Given the description of an element on the screen output the (x, y) to click on. 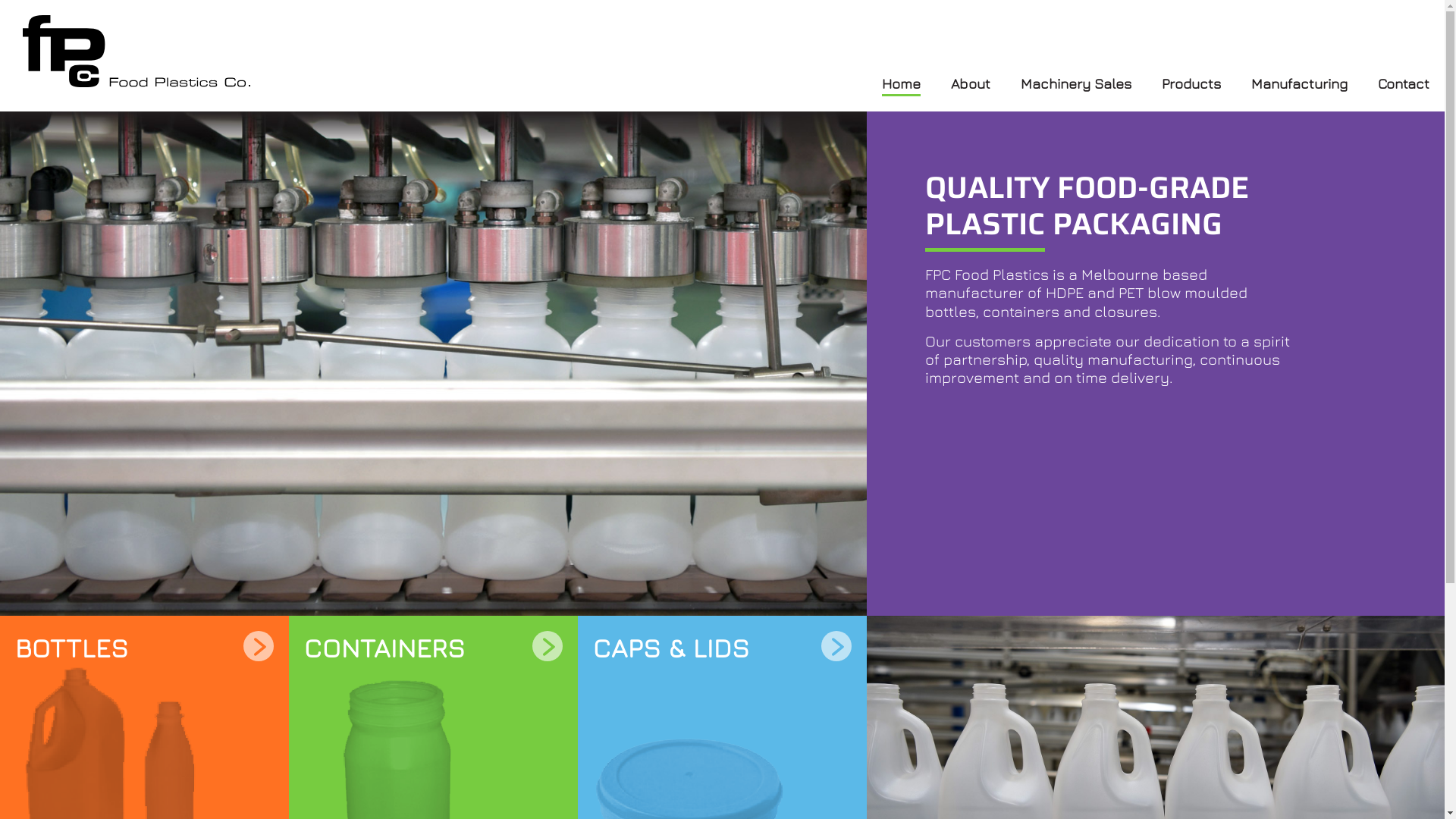
About Element type: text (970, 84)
Contact Element type: text (1403, 84)
Products Element type: text (1190, 84)
Food Plastics Element type: hover (136, 51)
Manufacturing Element type: text (1299, 84)
Home Element type: text (900, 84)
Machinery Sales Element type: text (1075, 84)
